Given the description of an element on the screen output the (x, y) to click on. 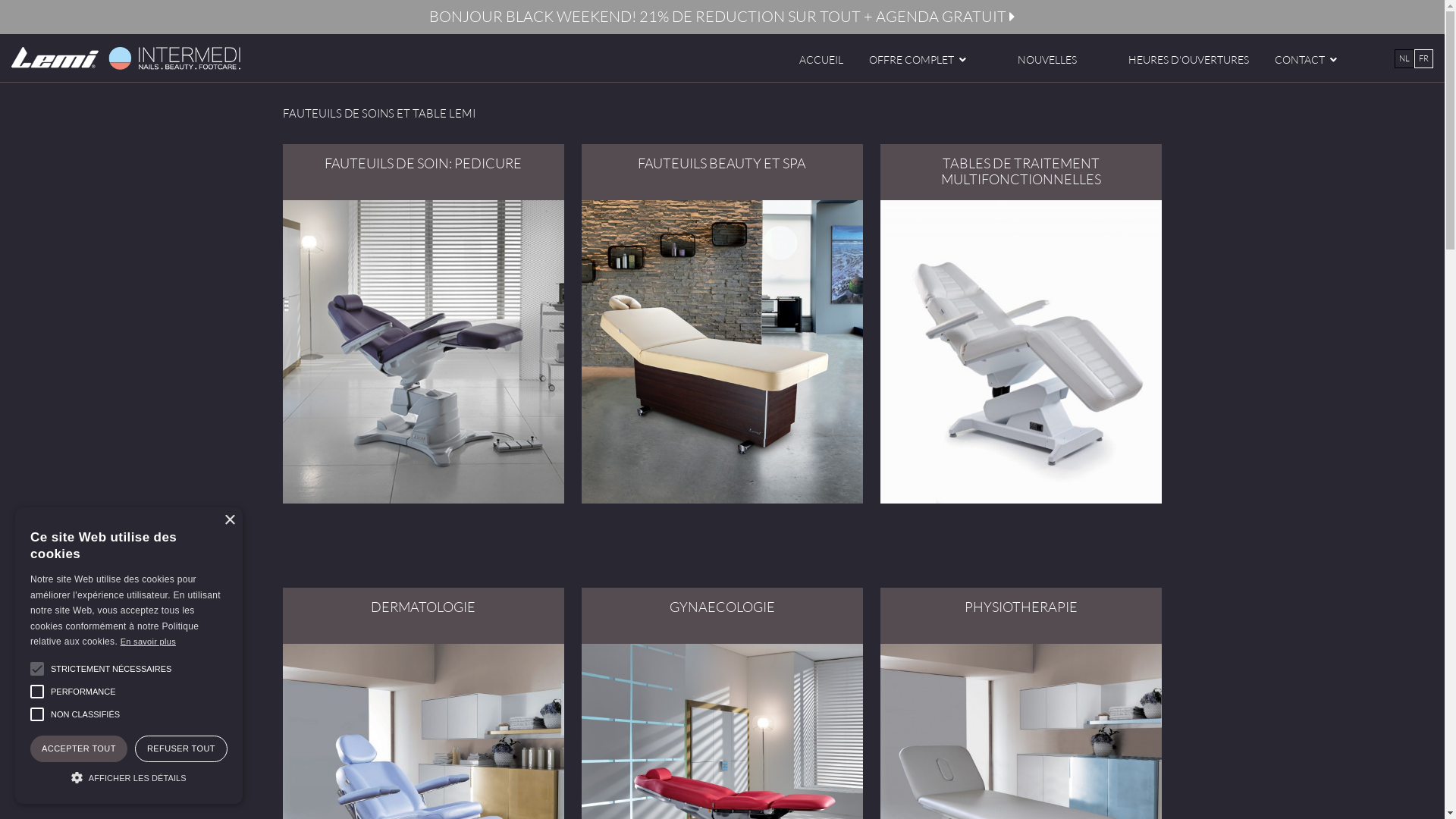
Tables de traitement multifonctionnelles Element type: hover (1020, 351)
Intermedi Element type: hover (125, 58)
PHYSIOTHERAPIE Element type: text (1020, 615)
ACCUEIL Element type: text (820, 59)
Fauteuils beauty et spa Element type: hover (721, 351)
CONTACT Element type: text (1305, 59)
GYNAECOLOGIE Element type: text (721, 615)
FAUTEUILS BEAUTY ET SPA Element type: text (721, 172)
TABLES DE TRAITEMENT MULTIFONCTIONNELLES Element type: text (1020, 172)
HEURES D'OUVERTURES Element type: text (1188, 59)
En savoir plus Element type: text (147, 641)
FAUTEUILS DE SOIN: PEDICURE Element type: text (422, 172)
FR Element type: text (1423, 59)
FAUTEUILS DE SOINS ET TABLE LEMI Element type: text (378, 113)
Fauteuils de soin: pedicure Element type: hover (422, 351)
NOUVELLES Element type: text (1047, 59)
NL Element type: text (1404, 59)
DERMATOLOGIE Element type: text (422, 615)
OFFRE COMPLET Element type: text (917, 59)
